Given the description of an element on the screen output the (x, y) to click on. 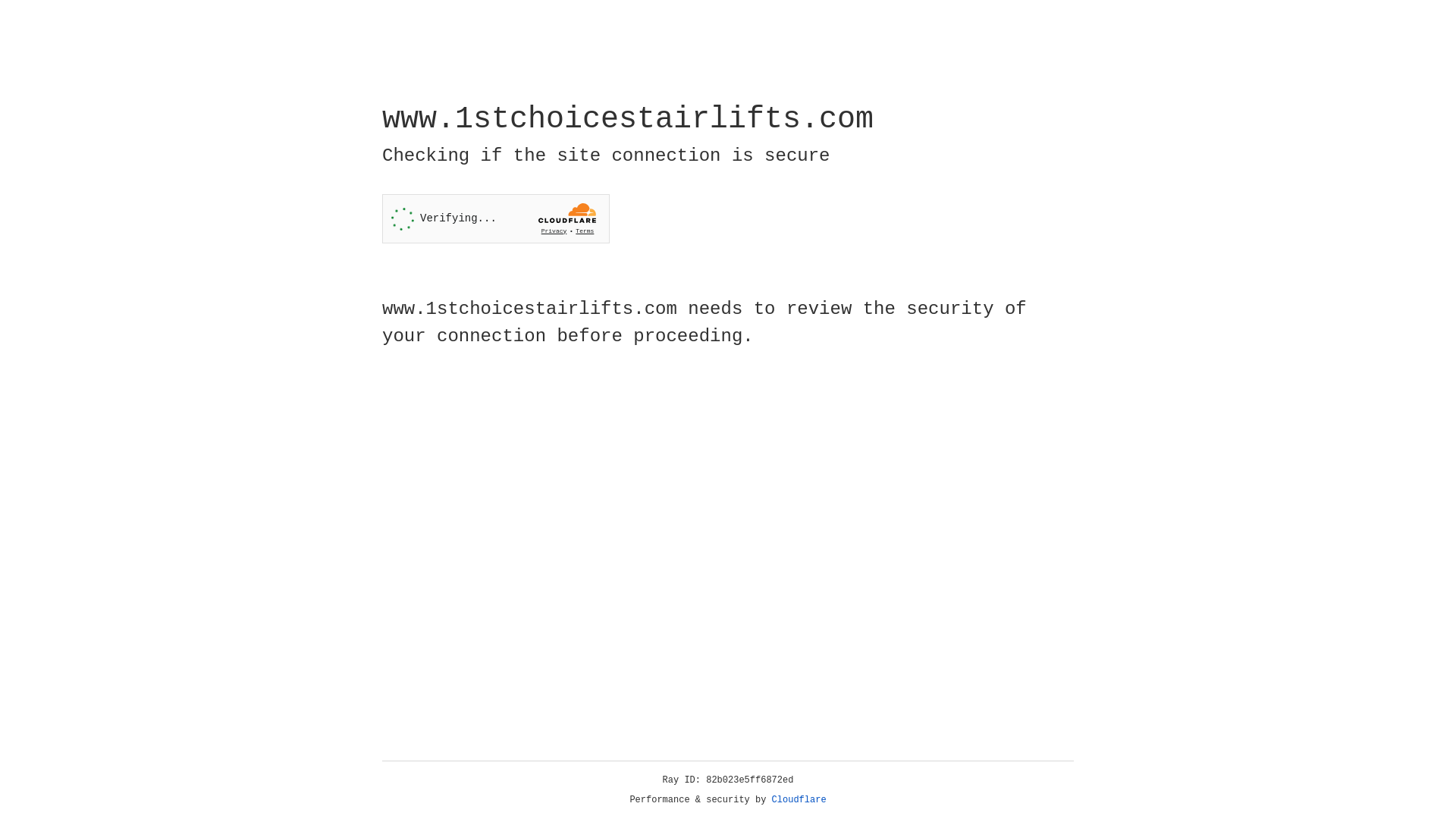
Cloudflare Element type: text (798, 799)
Widget containing a Cloudflare security challenge Element type: hover (495, 218)
